Given the description of an element on the screen output the (x, y) to click on. 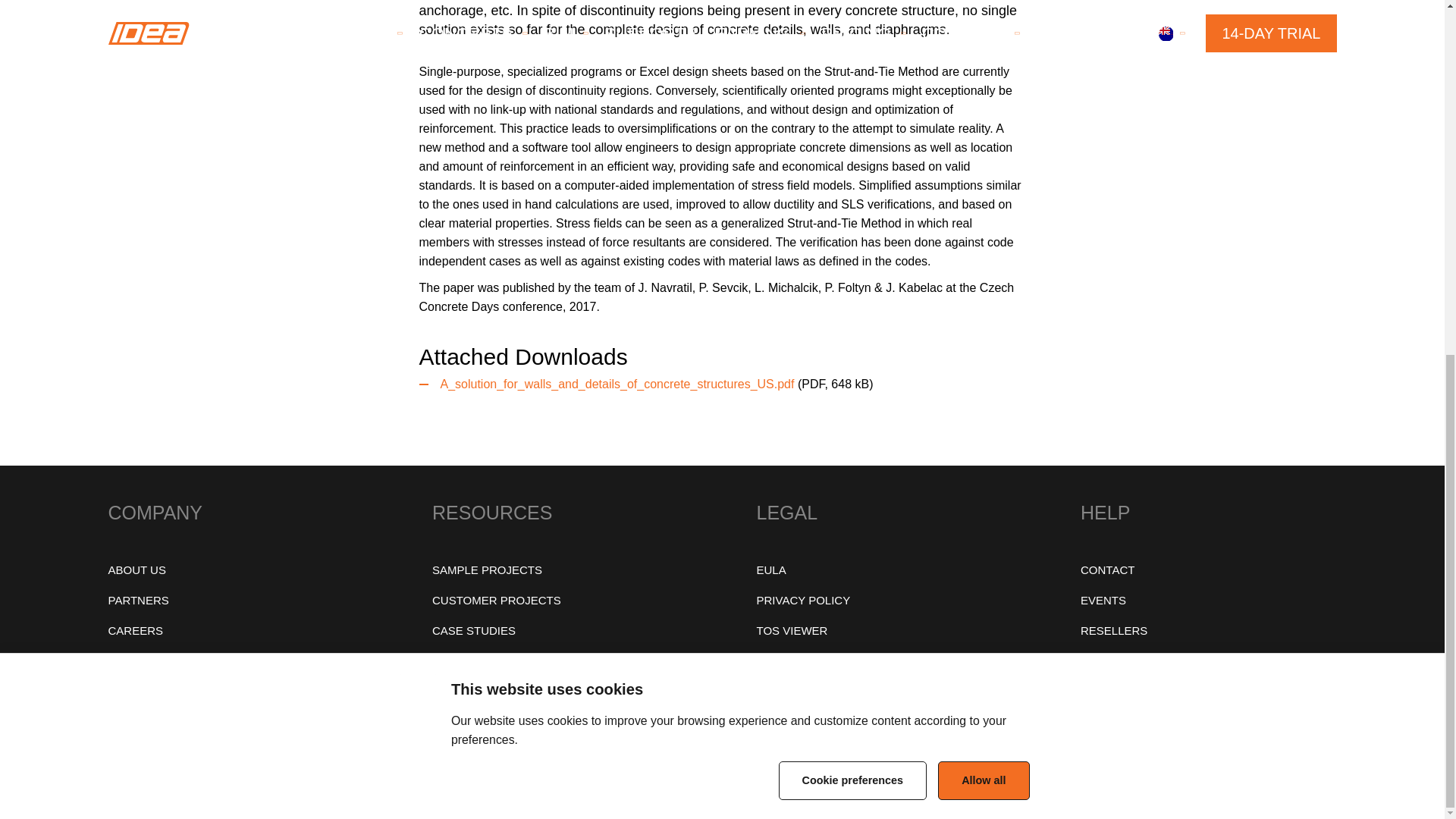
Allow all (983, 290)
Cookie preferences (852, 299)
